Given the description of an element on the screen output the (x, y) to click on. 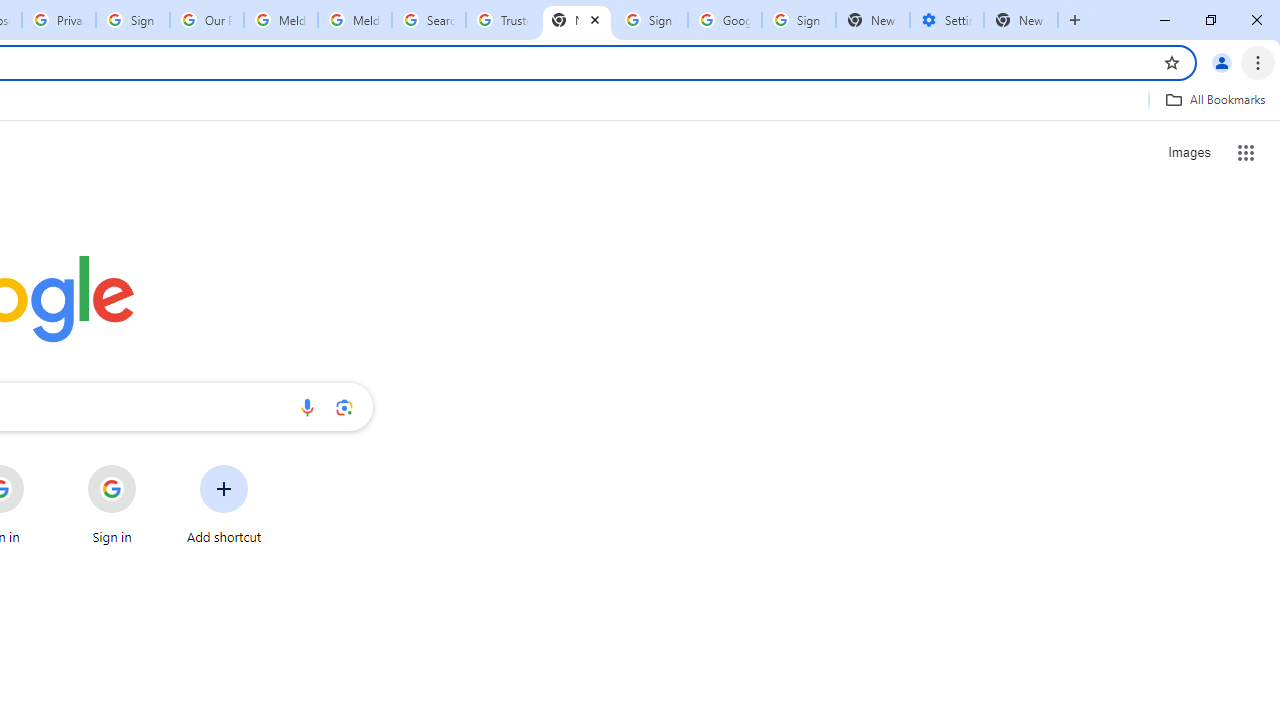
Search by voice (307, 407)
Settings - Addresses and more (947, 20)
All Bookmarks (1215, 99)
Sign in - Google Accounts (651, 20)
Search by image (344, 407)
Sign in - Google Accounts (798, 20)
Search for Images  (1188, 152)
